Given the description of an element on the screen output the (x, y) to click on. 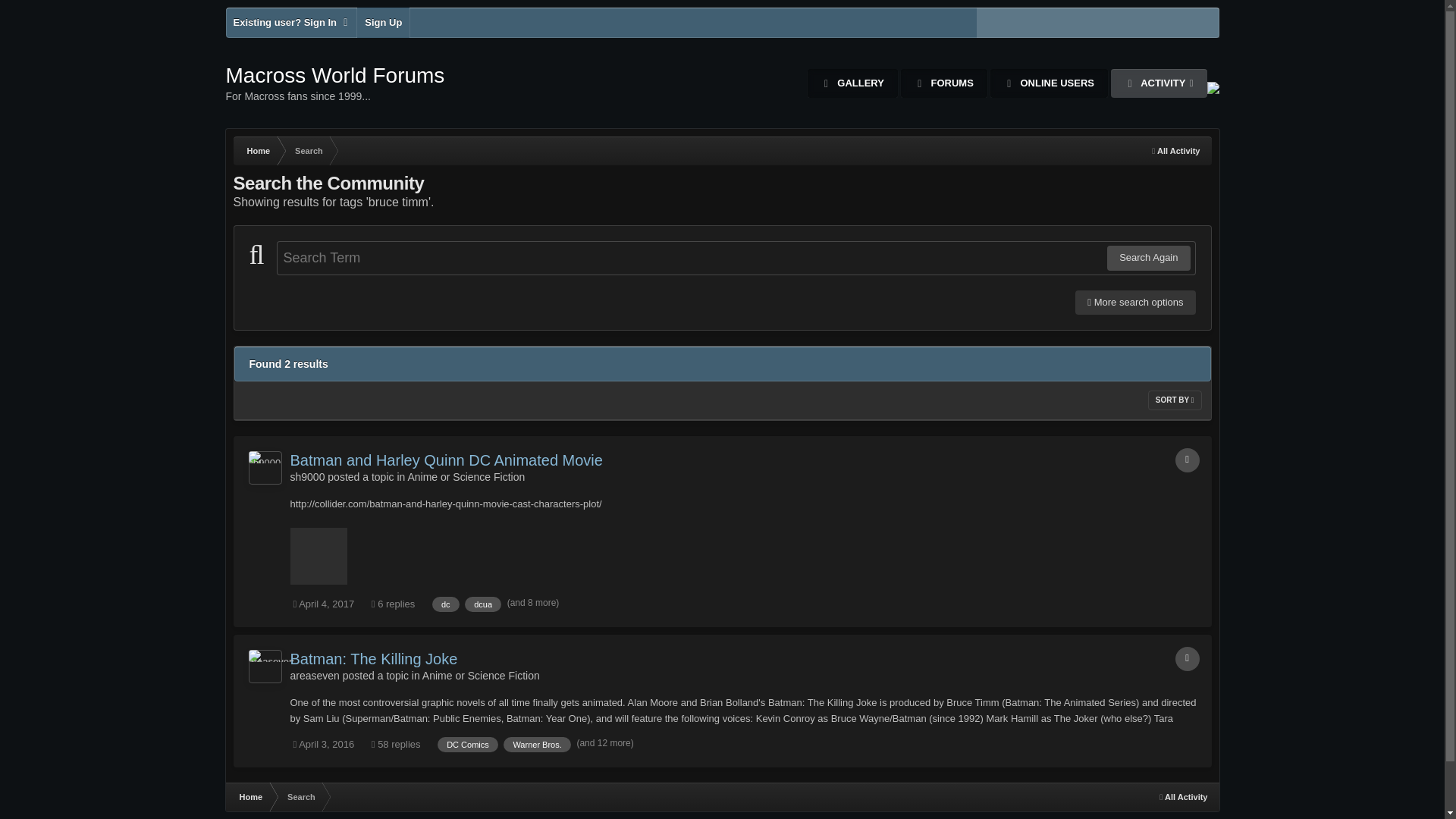
GALLERY (853, 82)
Go to sh9000's profile (265, 467)
Find other content tagged with 'dc' (446, 604)
Search (307, 150)
FORUMS (944, 82)
Sign Up (382, 22)
Home (257, 150)
All Activity (1175, 150)
Existing user? Sign In   (290, 22)
Go to sh9000's profile (306, 476)
Topic (1186, 459)
Find other content tagged with 'dcua' (482, 604)
ONLINE USERS (1049, 82)
Home (335, 82)
